Given the description of an element on the screen output the (x, y) to click on. 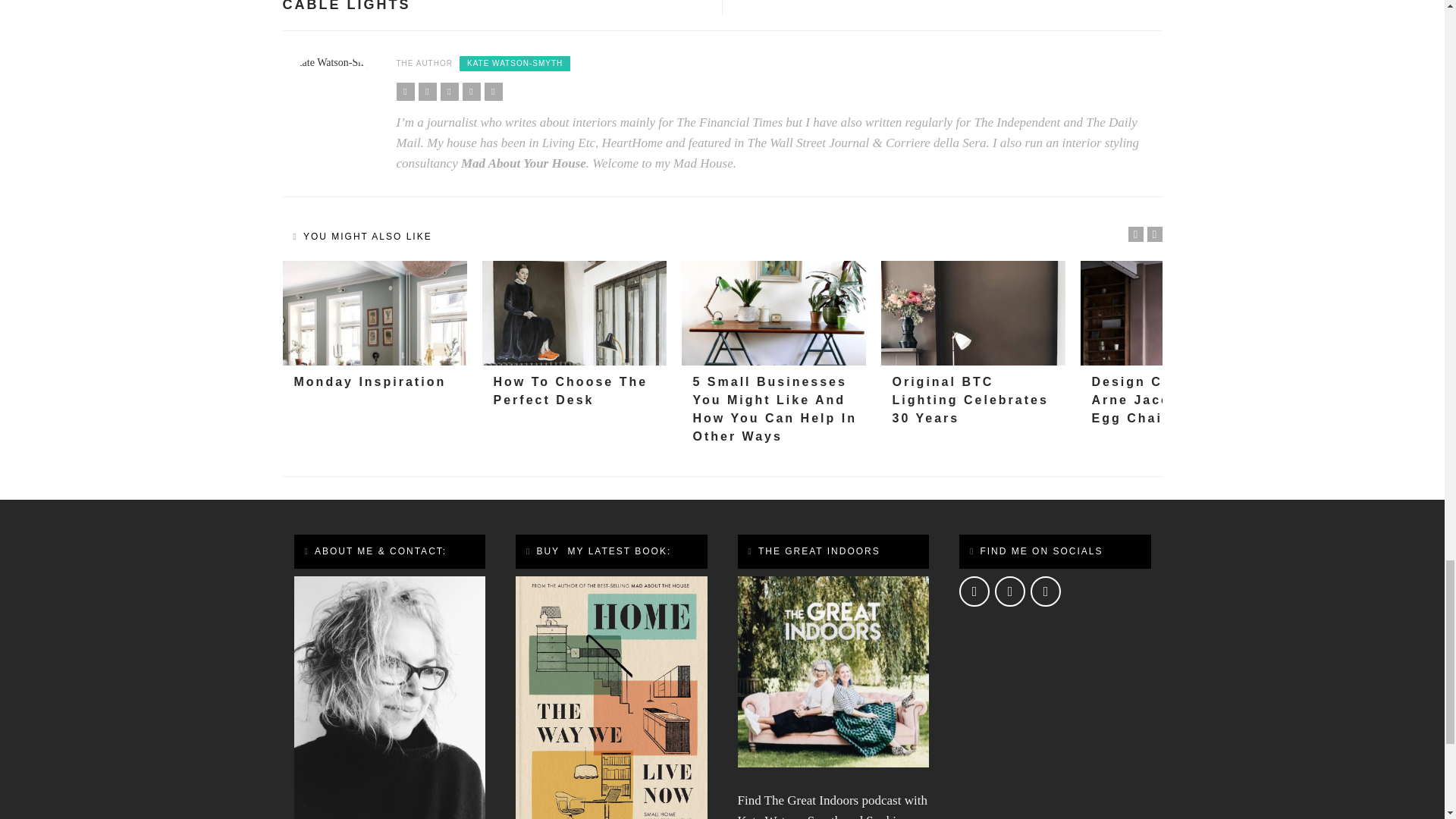
KATE WATSON-SMYTH (515, 63)
Monday Inspiration (373, 313)
